Given the description of an element on the screen output the (x, y) to click on. 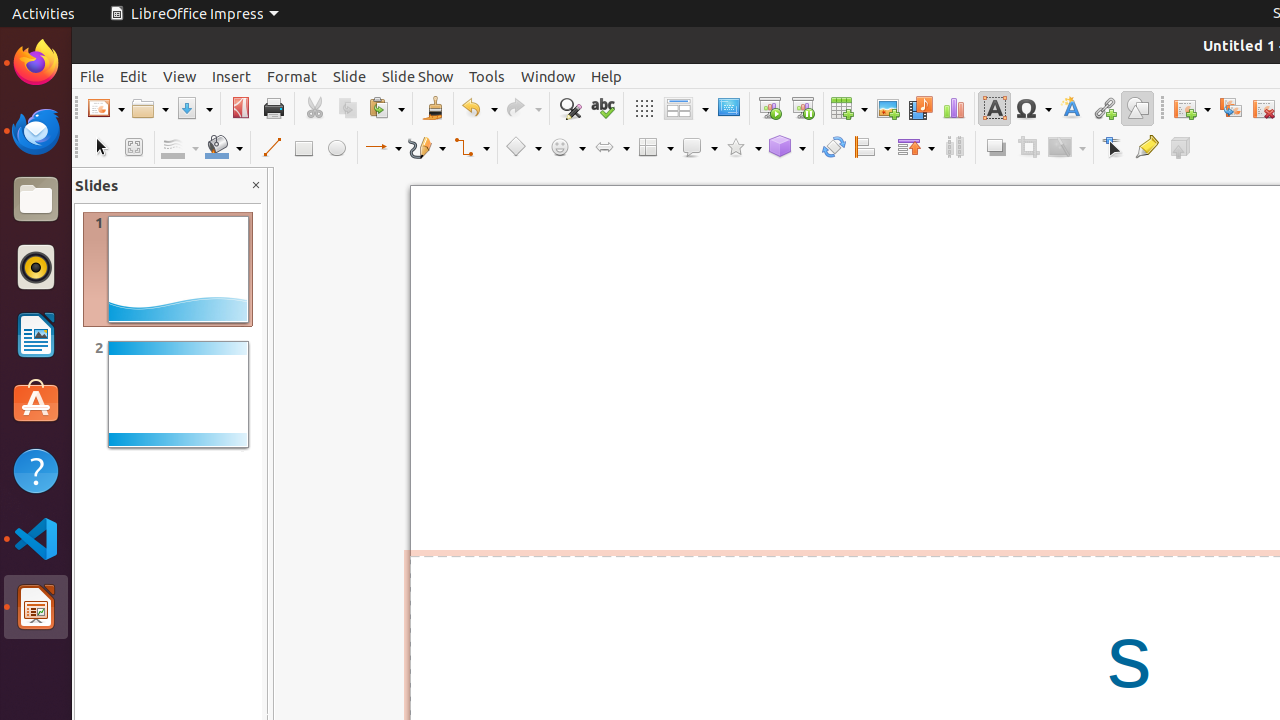
Slide Show Element type: menu (417, 76)
Filter Element type: push-button (1067, 147)
Shadow Element type: toggle-button (995, 147)
Crop Element type: push-button (1028, 147)
PDF Element type: push-button (240, 108)
